Given the description of an element on the screen output the (x, y) to click on. 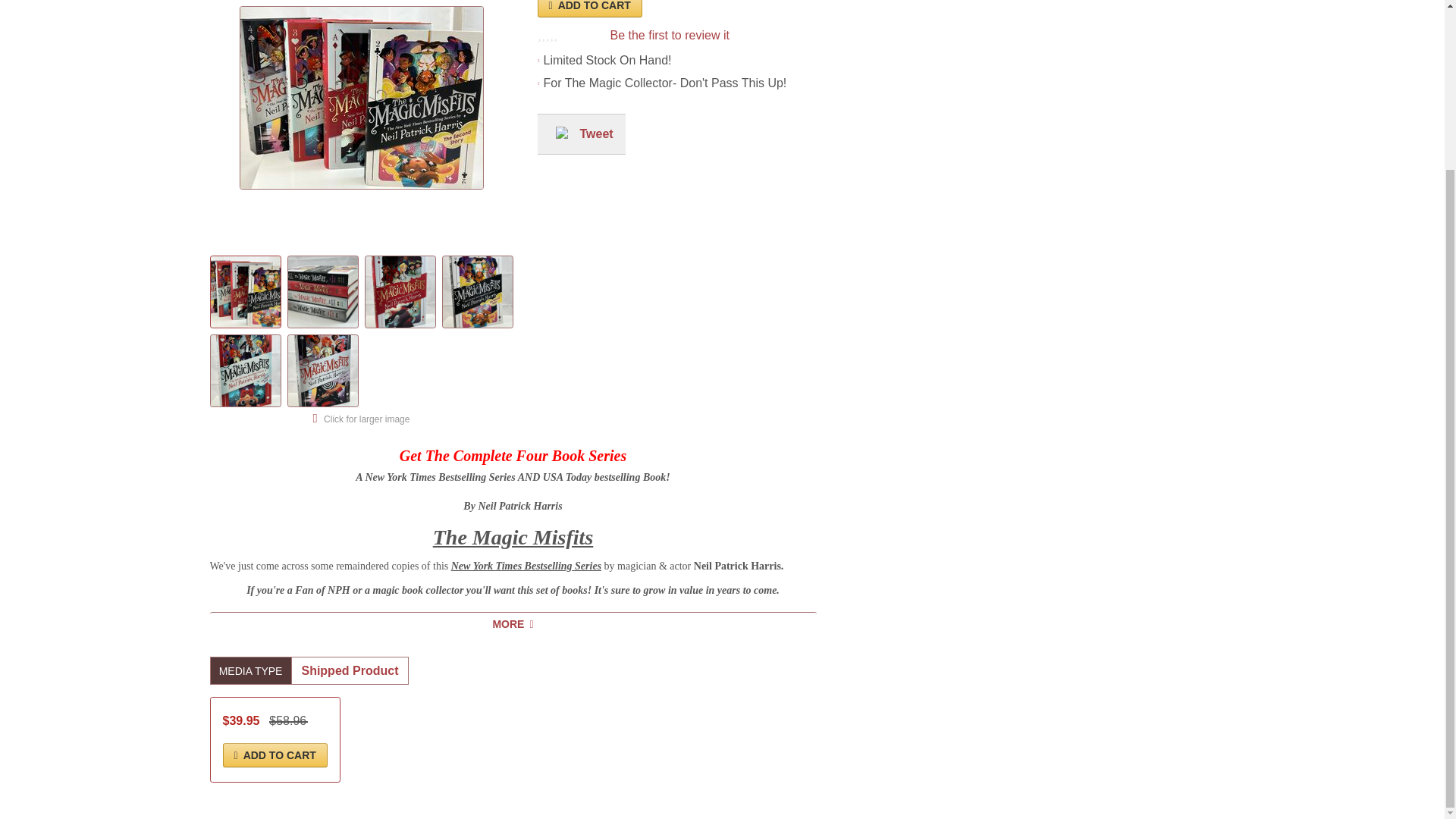
ADD TO CART (589, 8)
Click for larger image (361, 418)
MORE (512, 623)
Shipped Product (349, 670)
Be the first to review it (669, 35)
ADD TO CART (274, 754)
Tweet (595, 133)
